Given the description of an element on the screen output the (x, y) to click on. 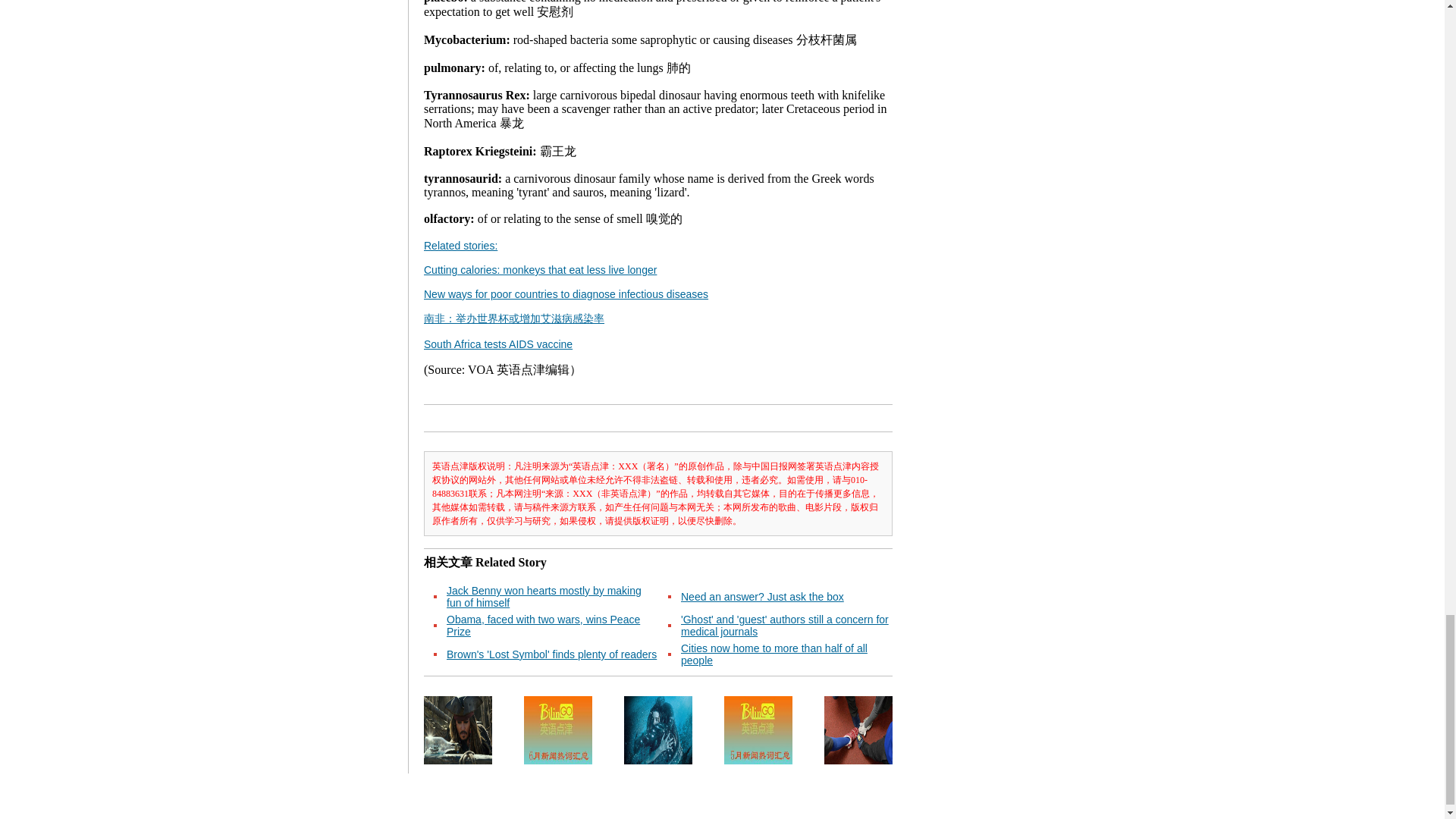
Brown's 'Lost Symbol' finds plenty of readers (551, 654)
Cutting calories: monkeys that eat less live longer (539, 269)
South Africa tests AIDS vaccine (497, 344)
Cities now home to more than half of all people (774, 654)
Obama, faced with two wars, wins Peace Prize (543, 625)
Jack Benny won hearts mostly by making fun of himself (544, 596)
Need an answer? Just ask the box (762, 596)
New ways for poor countries to diagnose infectious diseases (565, 294)
Related stories: (460, 245)
